Given the description of an element on the screen output the (x, y) to click on. 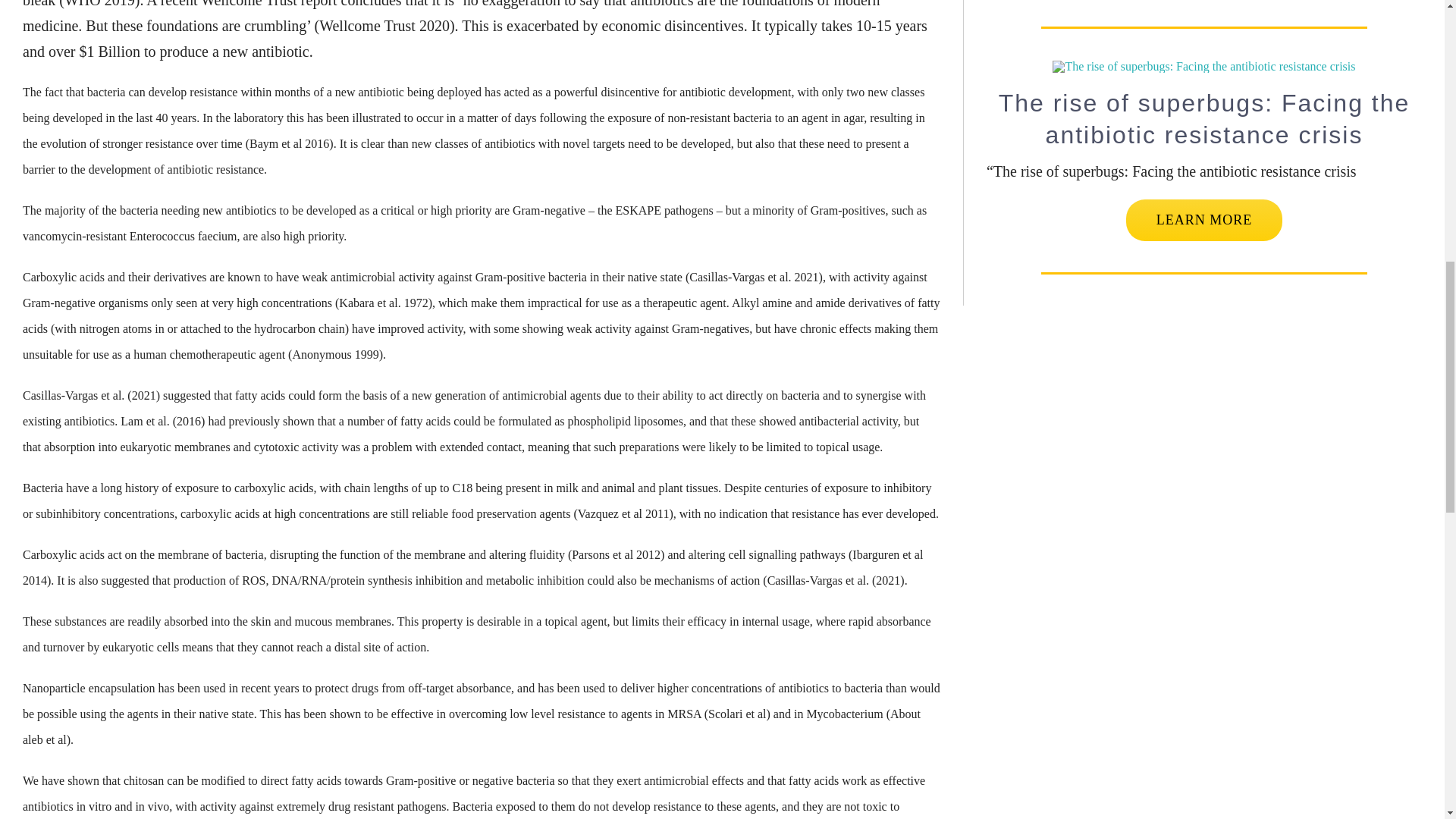
LEARN MORE (1203, 219)
